Given the description of an element on the screen output the (x, y) to click on. 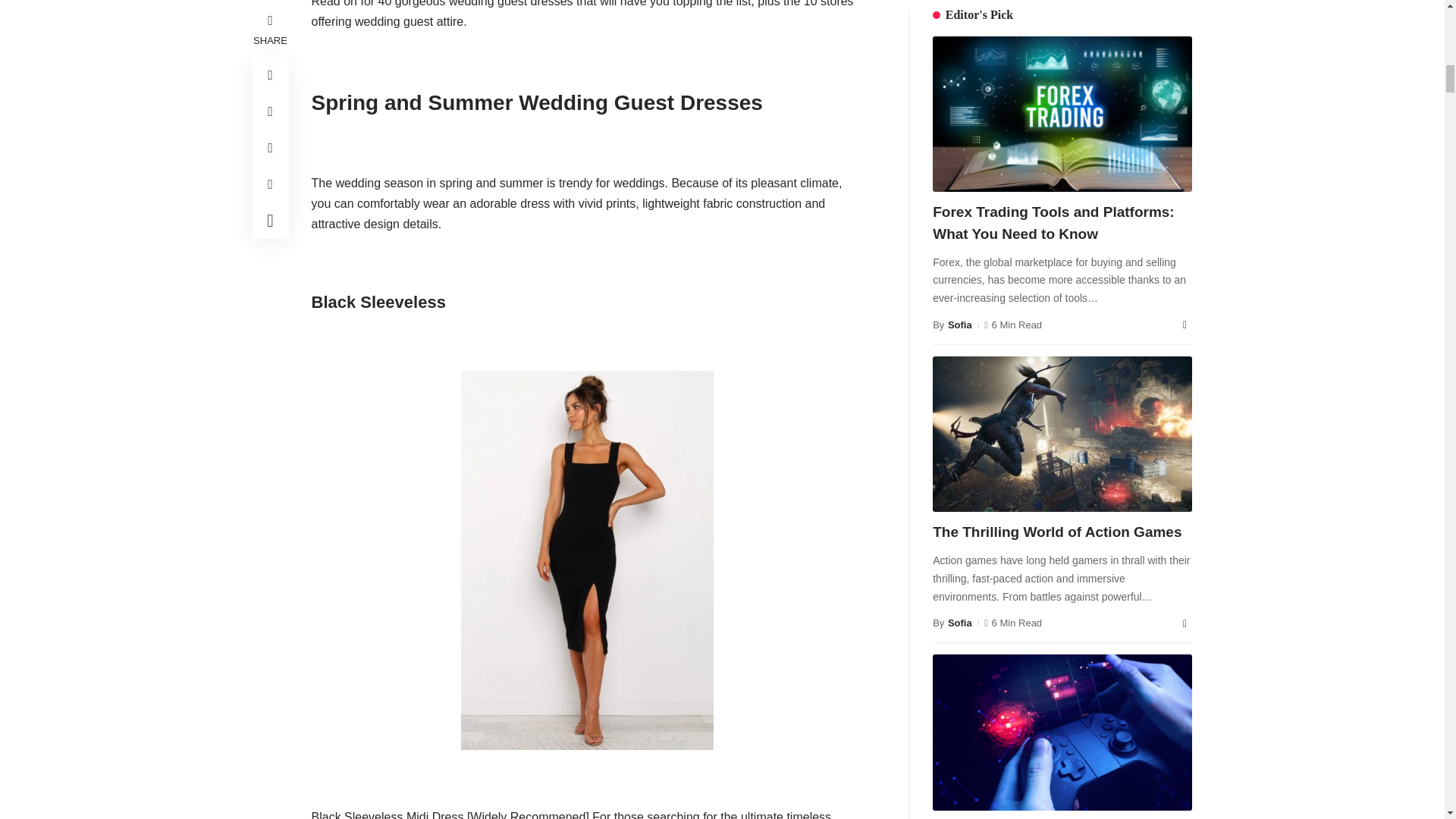
Forex Trading Tools and Platforms: What You Need to Know (989, 241)
